Given the description of an element on the screen output the (x, y) to click on. 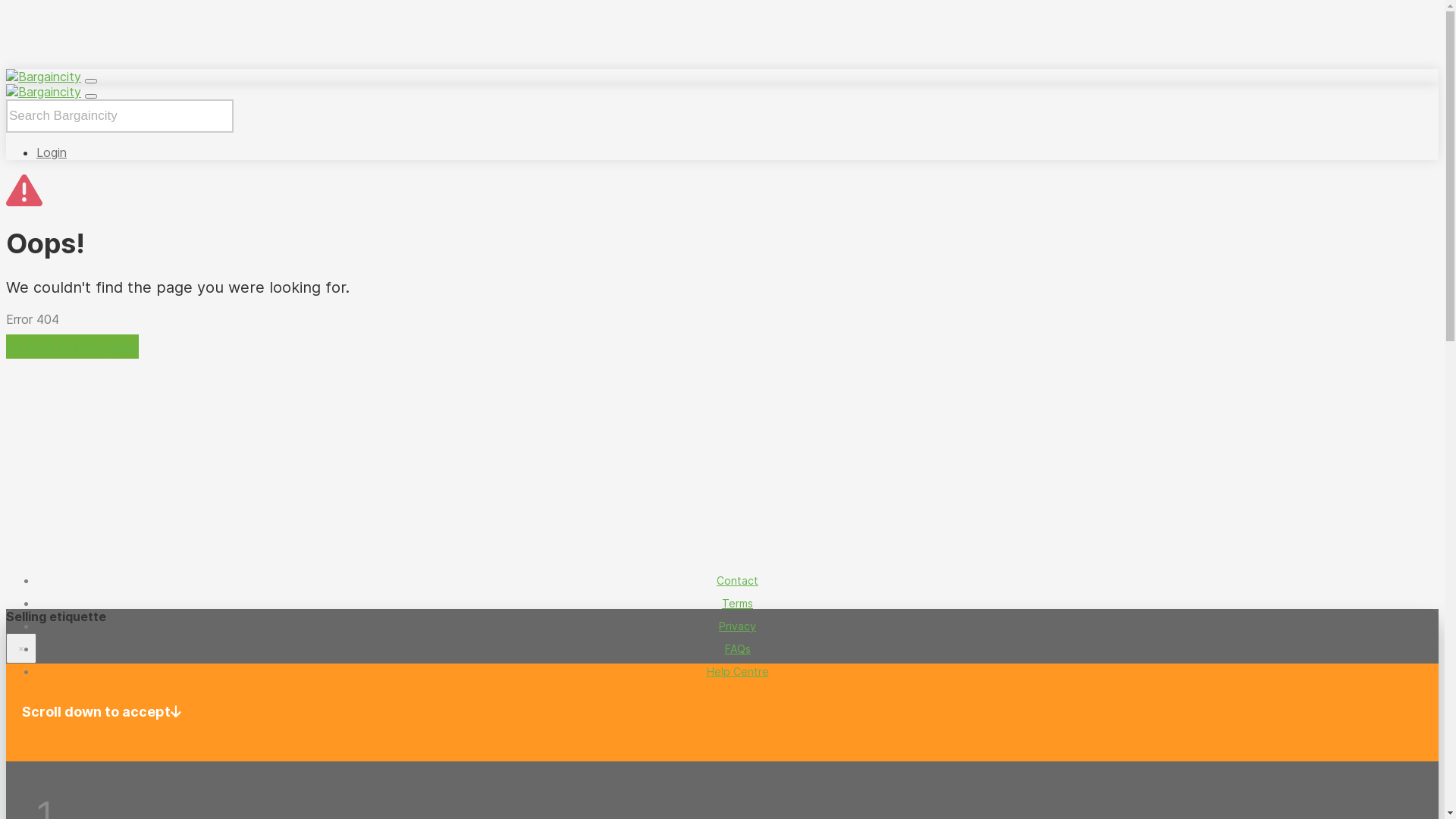
Contact Element type: text (737, 580)
Go back to Home page Element type: text (72, 346)
Terms Element type: text (737, 602)
Login Element type: text (51, 152)
Help Centre Element type: text (737, 671)
Privacy Element type: text (737, 625)
FAQs Element type: text (737, 648)
